Given the description of an element on the screen output the (x, y) to click on. 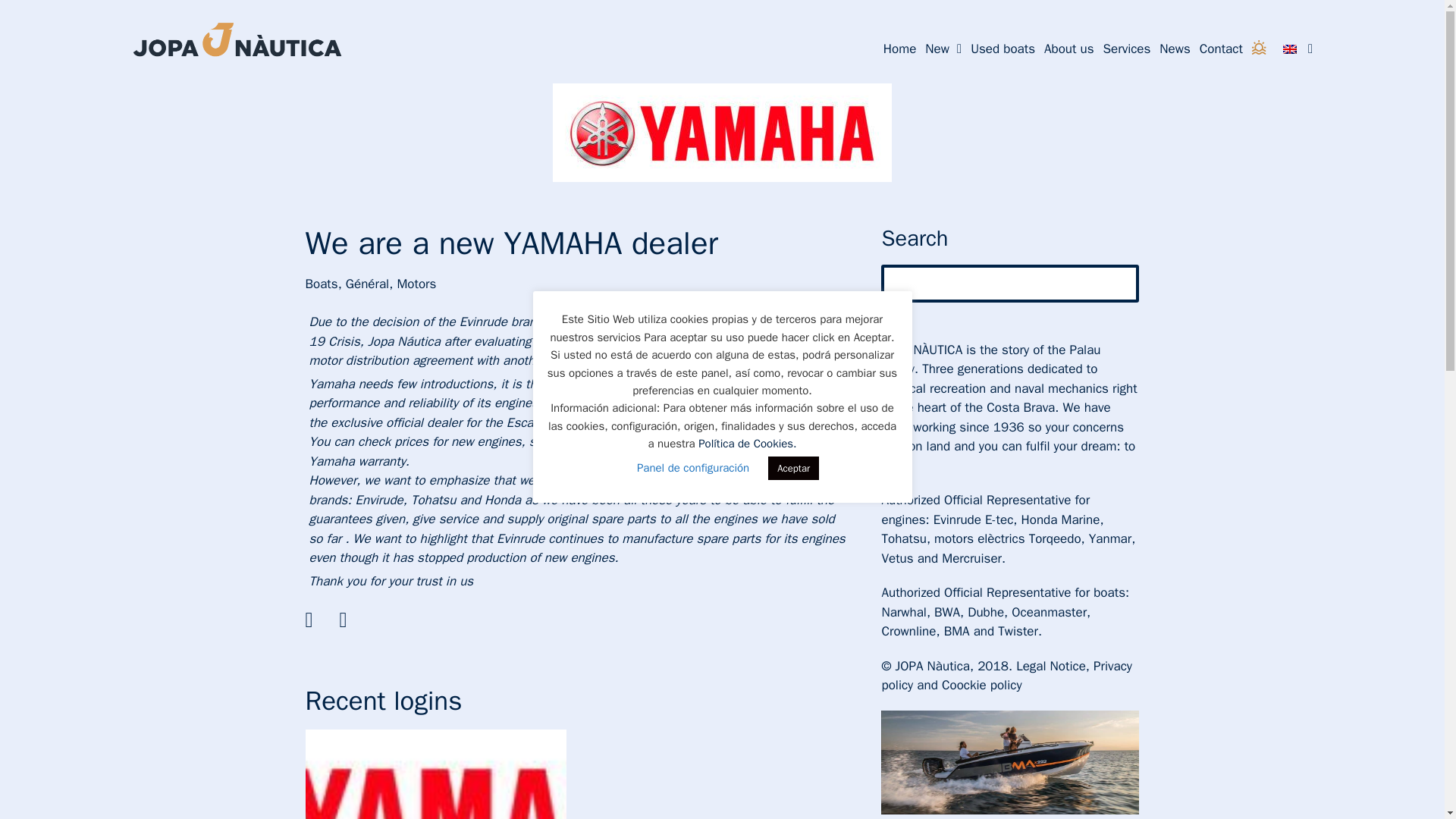
Services (1127, 48)
About us (1069, 48)
Contact (1221, 48)
Used boats (1002, 48)
Home (899, 48)
New (943, 48)
News (1173, 48)
